Given the description of an element on the screen output the (x, y) to click on. 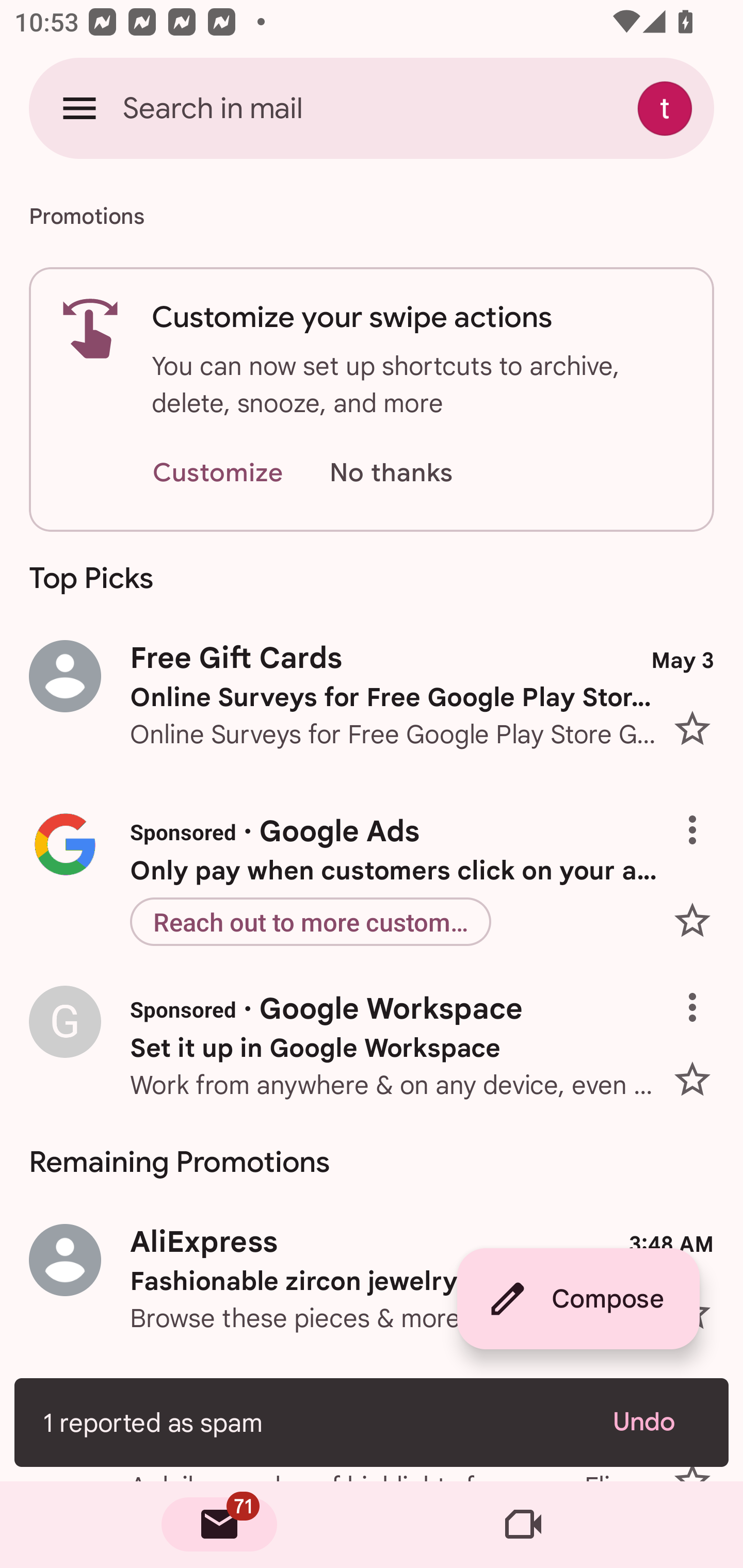
Open navigation drawer (79, 108)
Customize (217, 473)
No thanks (390, 473)
Ad info (699, 815)
Add star (699, 920)
Reach out to more customers (310, 920)
Ad info (699, 992)
Add star (699, 1071)
Compose (577, 1299)
Undo (655, 1422)
Meet (523, 1524)
